Given the description of an element on the screen output the (x, y) to click on. 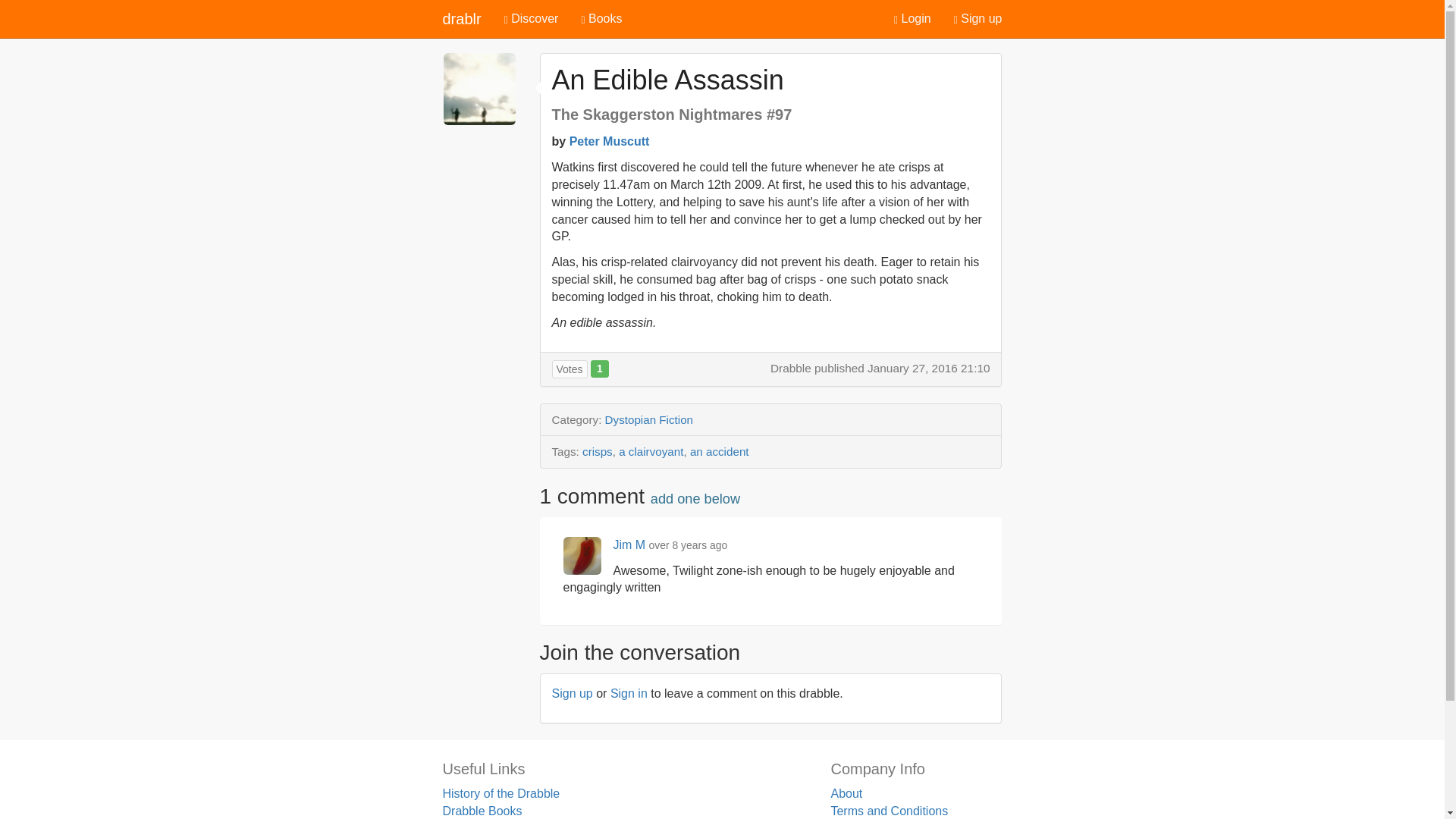
Sign up (977, 18)
History of the Drabble (501, 793)
a clairvoyant (650, 451)
Sign in (628, 693)
an accident (719, 451)
Drabble Books (482, 810)
Discover (531, 18)
Dystopian Fiction (649, 419)
add one below (694, 498)
Terms and Conditions (888, 810)
